Given the description of an element on the screen output the (x, y) to click on. 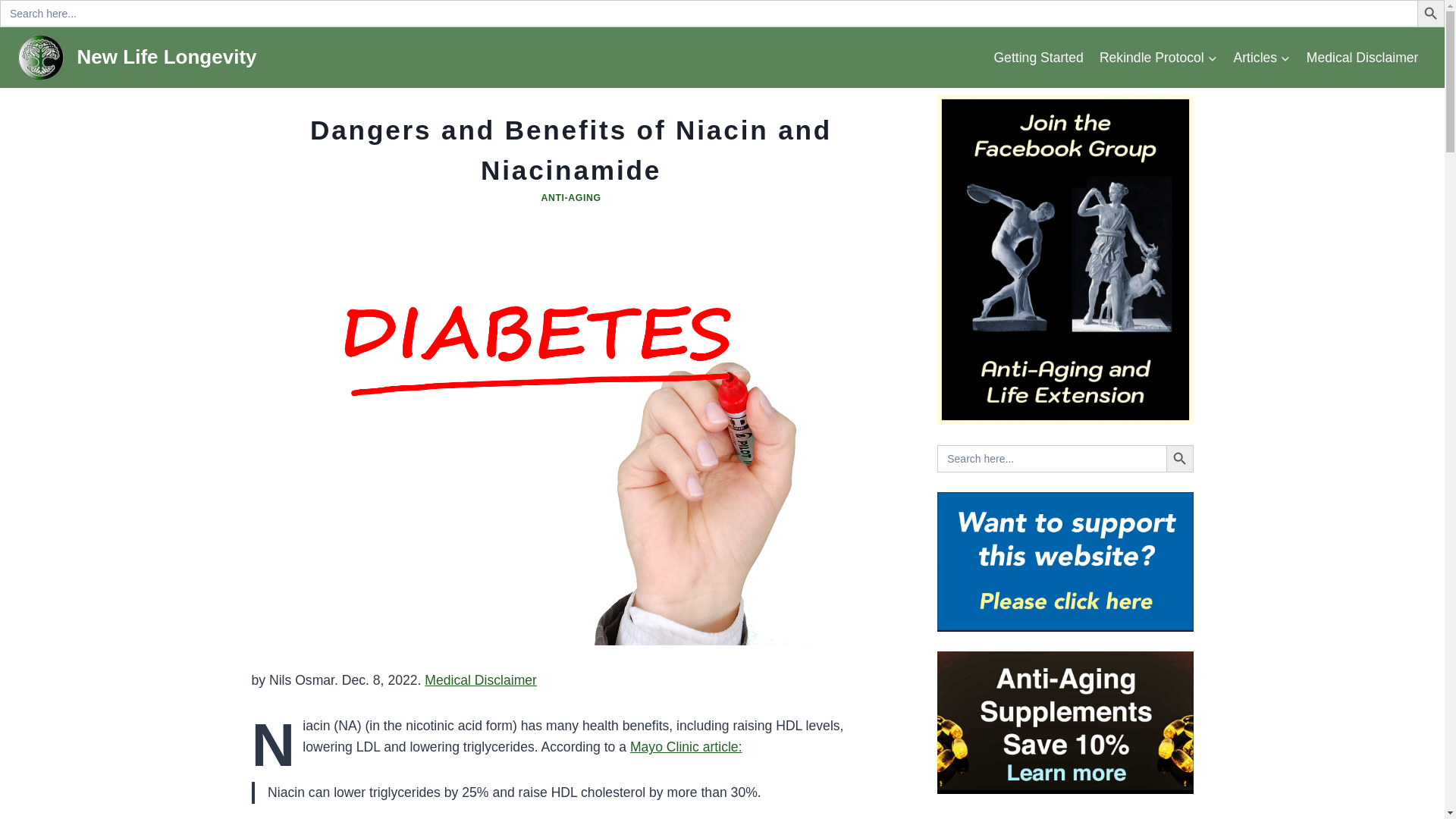
Rekindle Protocol (1157, 57)
Medical Disclaimer (1362, 57)
Mayo Clinic article: (686, 746)
Medical Disclaimer (481, 679)
Articles (1261, 57)
New Life Longevity (137, 57)
ANTI-AGING (569, 197)
Getting Started (1037, 57)
